Given the description of an element on the screen output the (x, y) to click on. 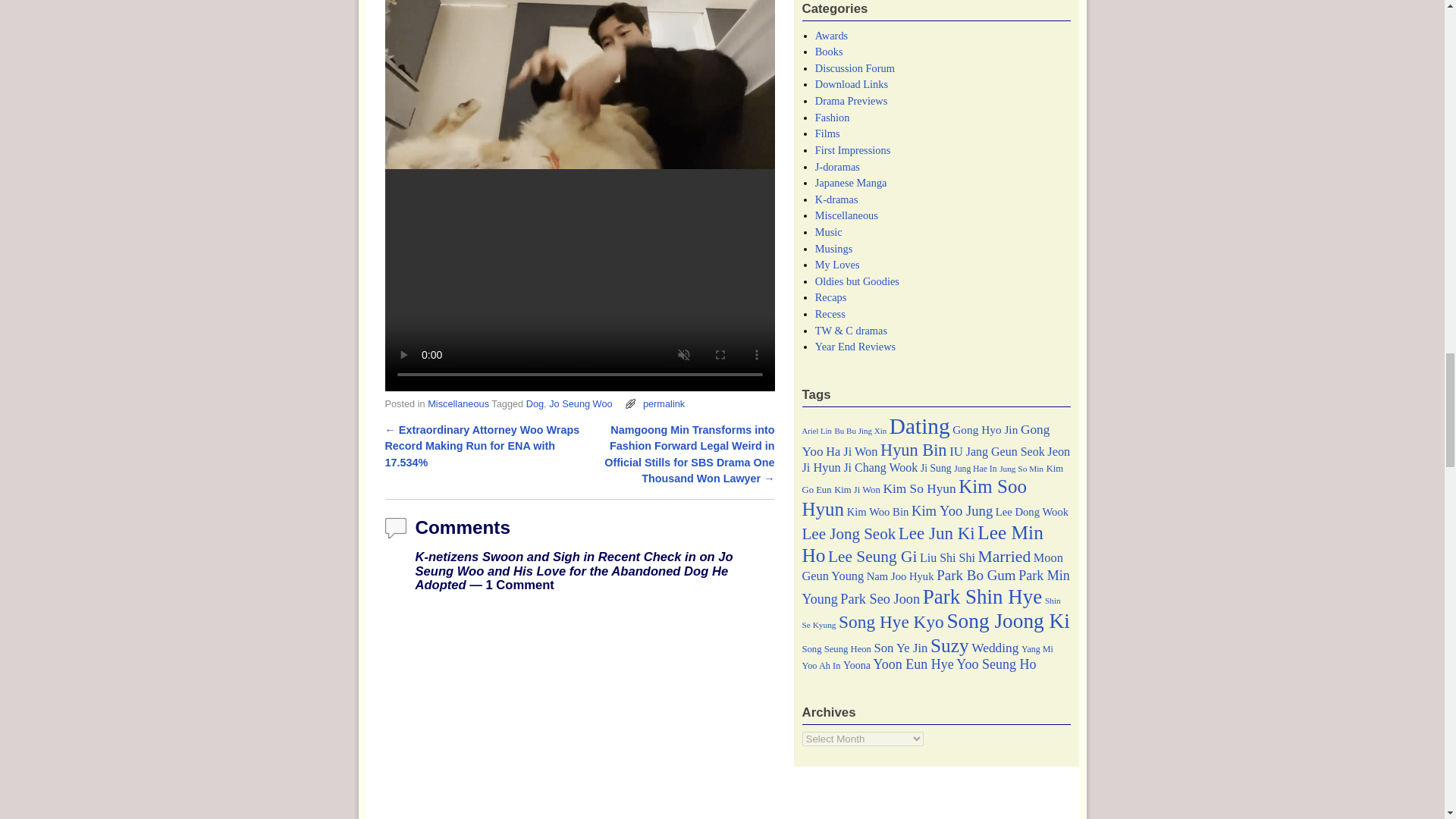
Miscellaneous (458, 403)
Dog (534, 403)
permalink (663, 403)
Jo Seung Woo (579, 403)
